Given the description of an element on the screen output the (x, y) to click on. 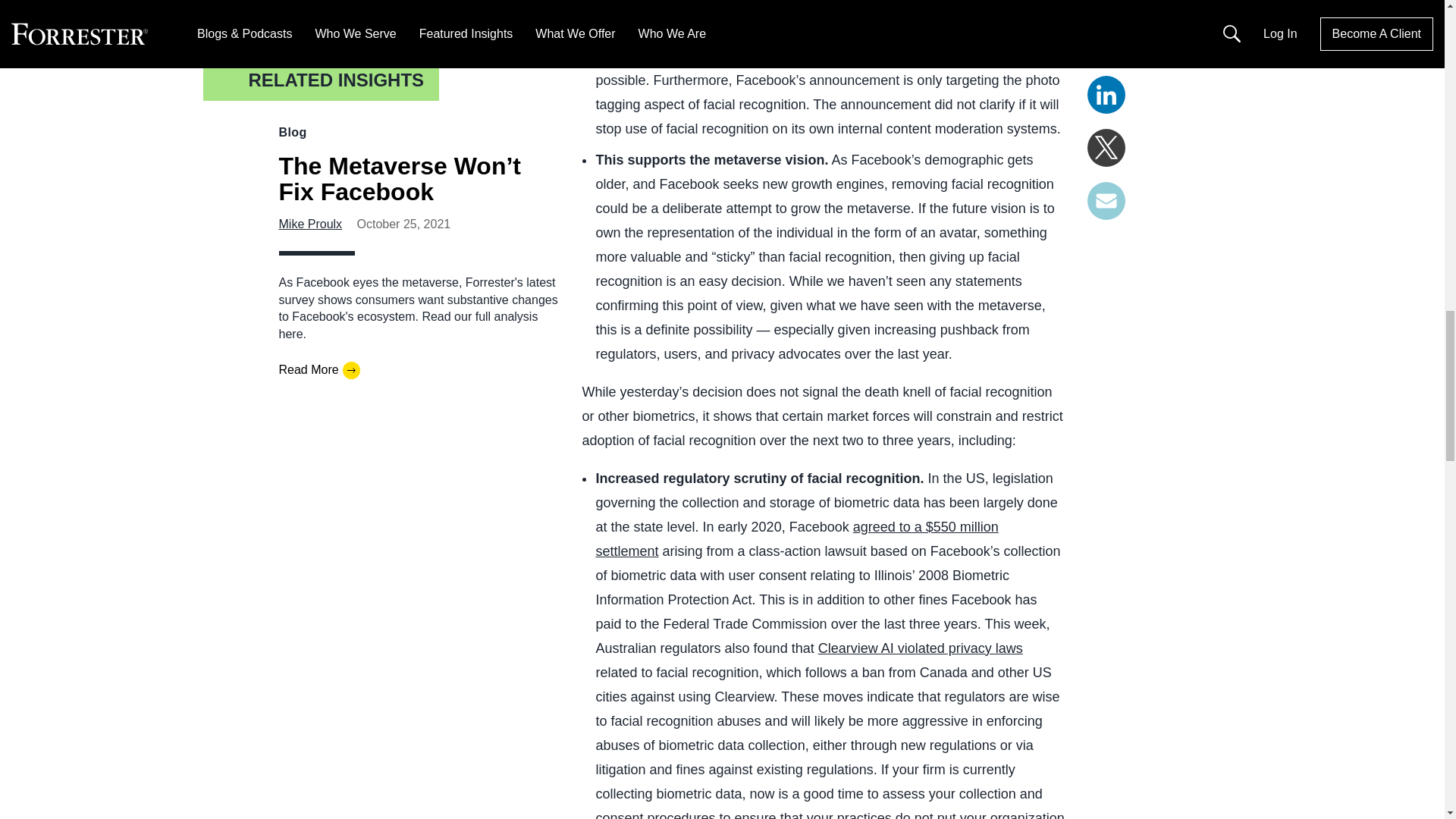
Mike Proulx (310, 223)
